Given the description of an element on the screen output the (x, y) to click on. 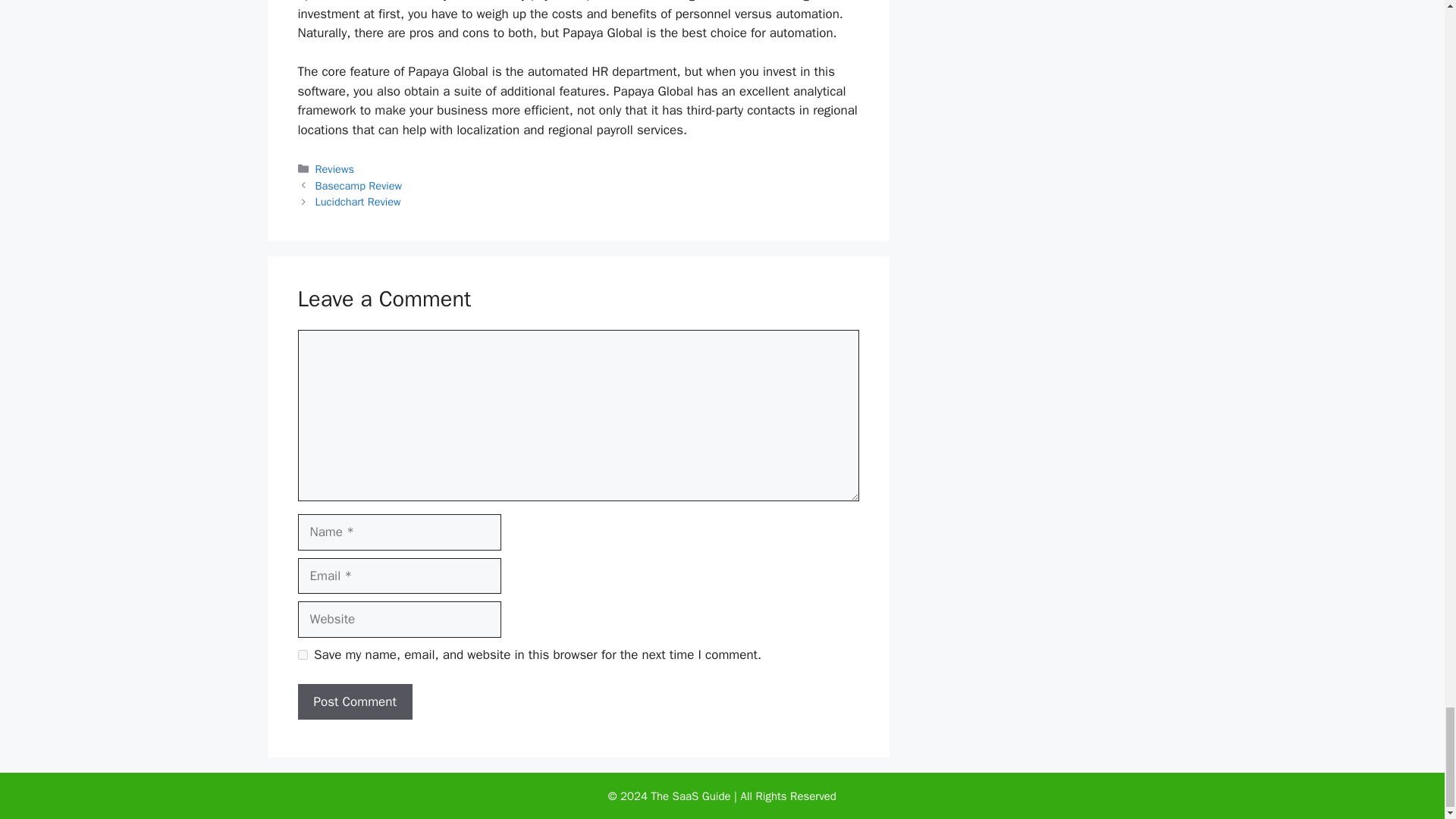
yes (302, 655)
Post Comment (354, 701)
